Given the description of an element on the screen output the (x, y) to click on. 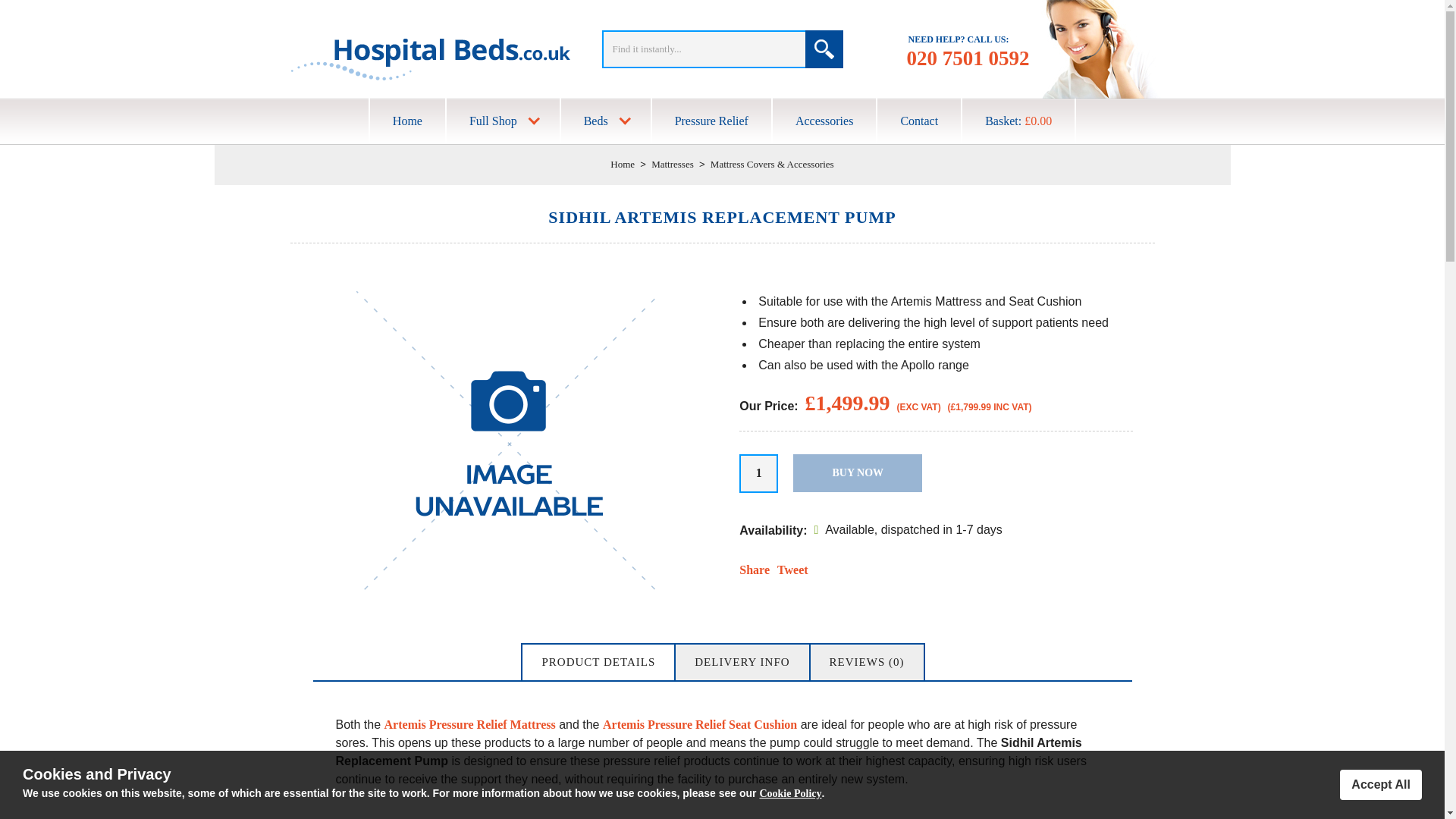
Zoom (507, 442)
DELIVERY INFO (741, 662)
Artemis Pressure Relief Mattress (470, 724)
Sidhil Artemis Replacement Pump (507, 590)
Share (754, 569)
1 (758, 473)
PRODUCT DETAILS (598, 662)
BUY NOW (857, 473)
Tweet (792, 569)
Home (622, 163)
Artemis Pressure Relief Seat Cushion (699, 724)
Go (824, 48)
Mattresses (672, 163)
Browse Our Full Range of Hospital Beds (605, 120)
